Given the description of an element on the screen output the (x, y) to click on. 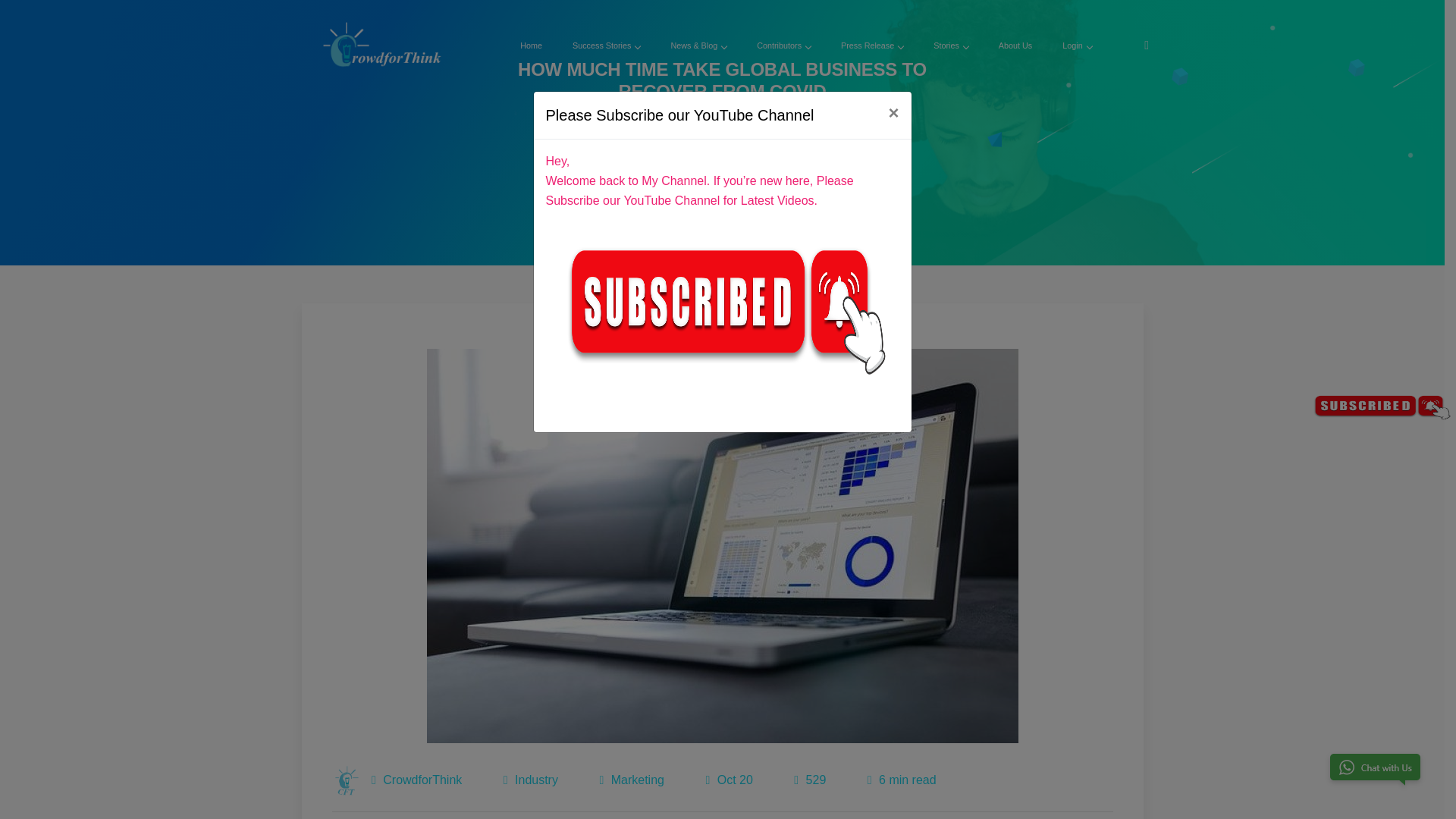
Industry (536, 779)
Play (721, 176)
Blog List (743, 115)
Home (694, 115)
CrowdforThink (421, 779)
Success Stories (605, 45)
CrowdforThink (346, 780)
